Given the description of an element on the screen output the (x, y) to click on. 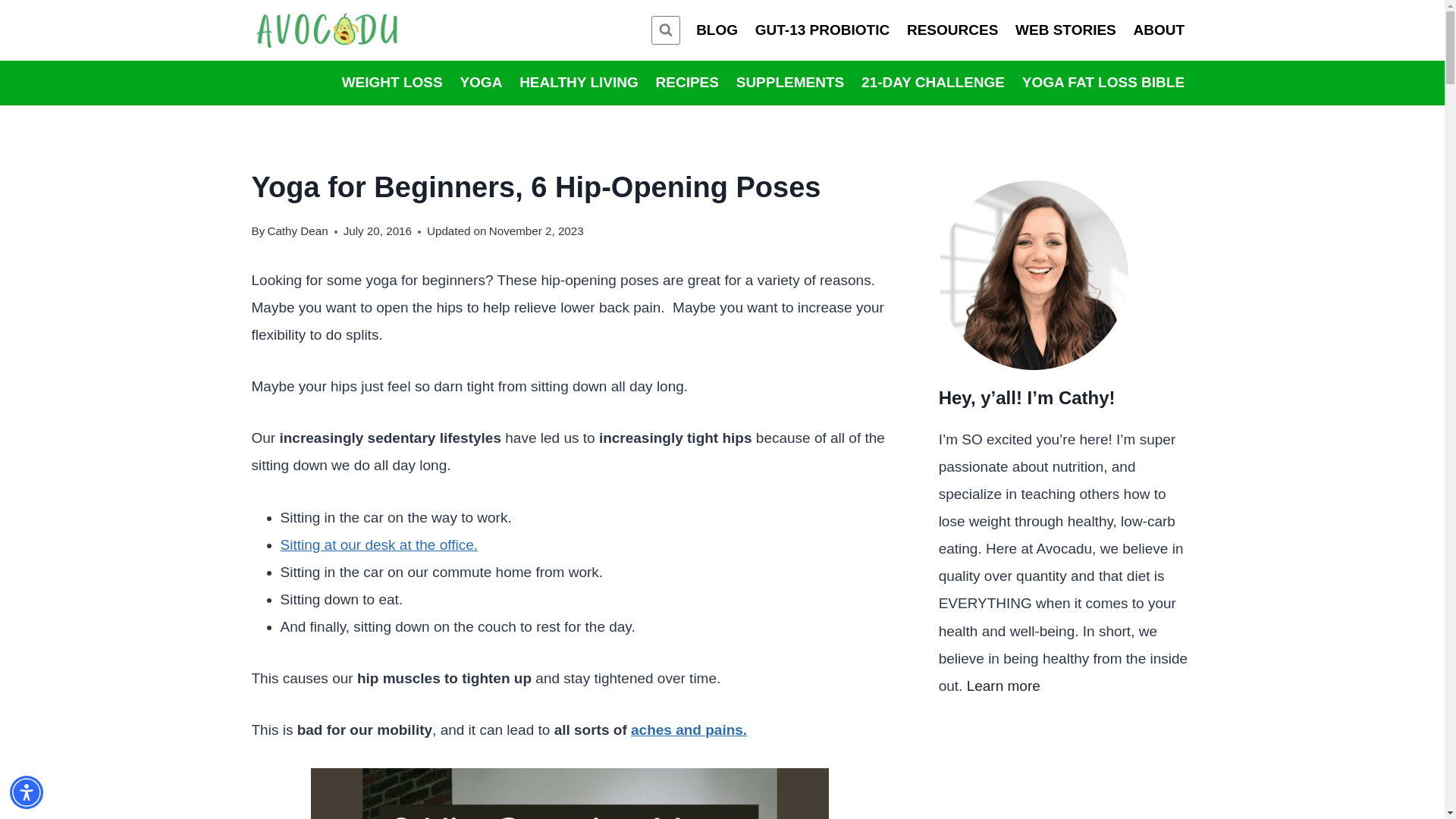
Sitting at our desk at the office. (380, 544)
Cathy Dean (296, 230)
HEALTHY LIVING (578, 82)
ABOUT (1158, 30)
WEB STORIES (1065, 30)
SUPPLEMENTS (788, 82)
RESOURCES (952, 30)
YOGA (481, 82)
YOGA FAT LOSS BIBLE (1102, 82)
WEIGHT LOSS (392, 82)
